Given the description of an element on the screen output the (x, y) to click on. 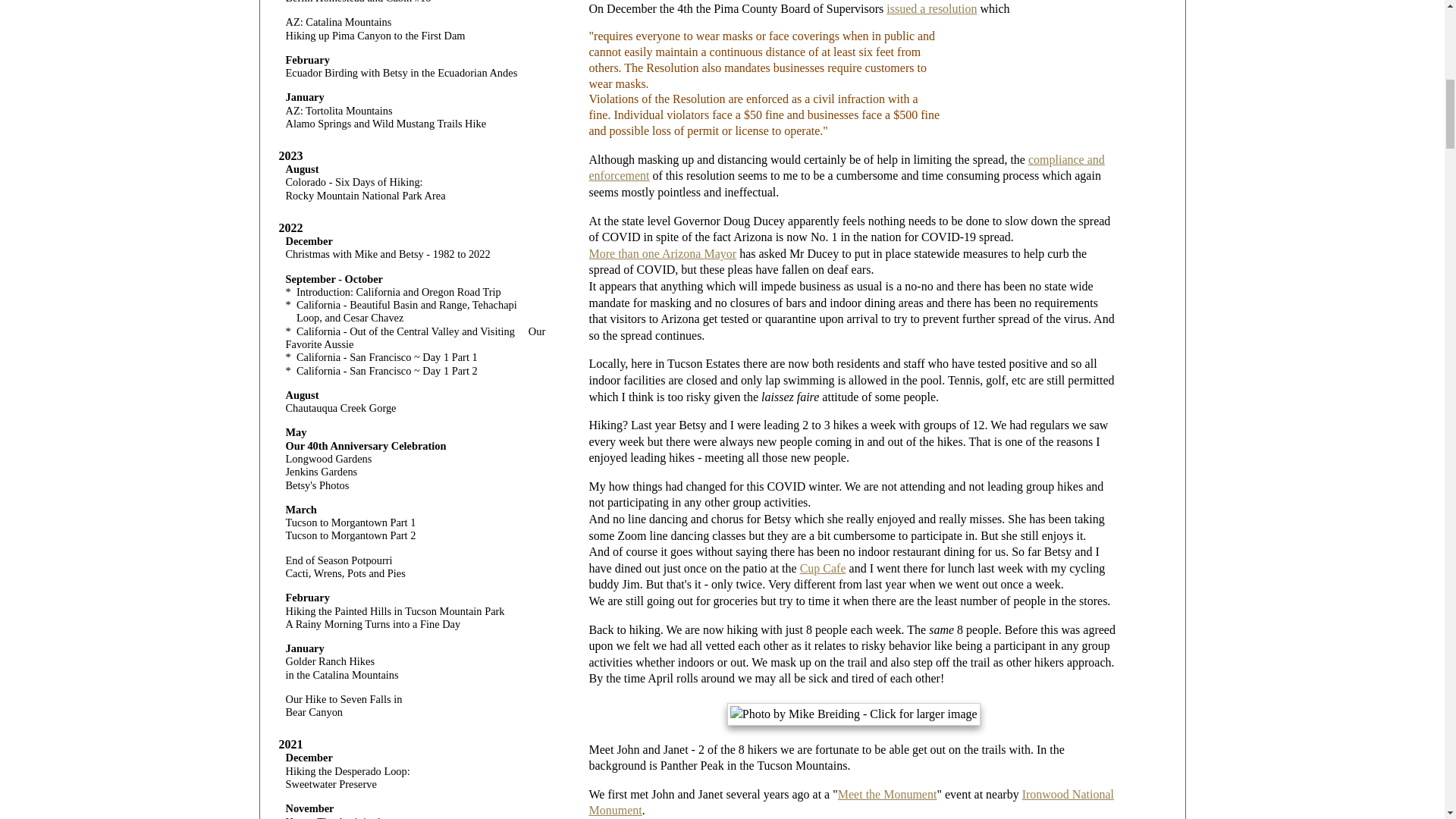
compliance and enforcement (847, 167)
Cup Cafe (822, 567)
Photo by Mike Breiding - Click for larger image (852, 713)
Face Mask Mandate (931, 8)
compliance and enforcement (847, 167)
Ironwood National Monument (851, 802)
issued a resolution (931, 8)
Meet the Monument (887, 793)
More than one Arizona Mayor (662, 253)
Ironwood National Monument (851, 802)
